Given the description of an element on the screen output the (x, y) to click on. 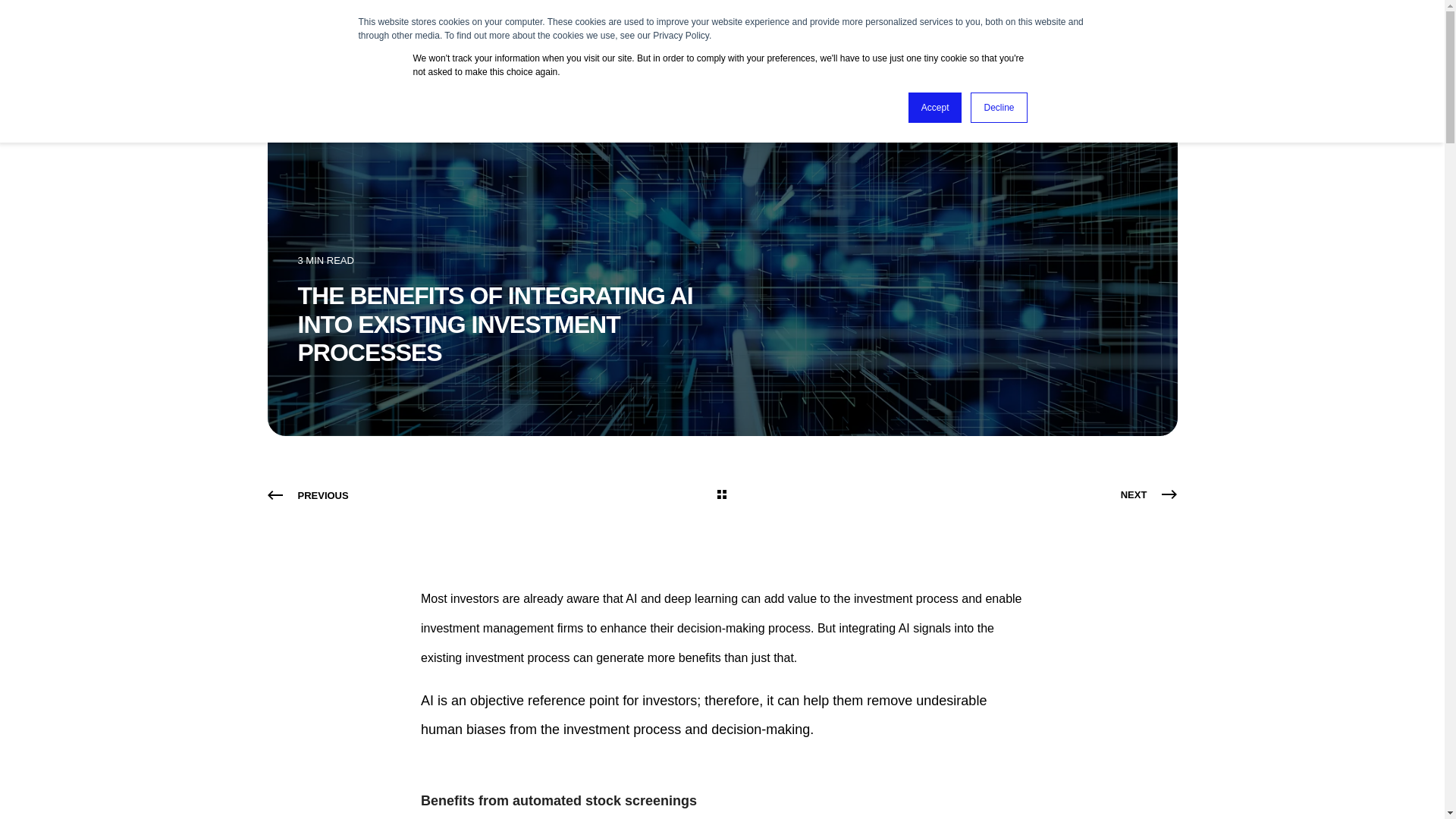
BOOK A DEMO (1125, 32)
COMPANY (587, 32)
Decline (998, 107)
RESOURCES (905, 32)
SOLUTIONS (684, 32)
Accept (935, 107)
CAREERS (995, 32)
TECHNOLOGY (793, 32)
